Given the description of an element on the screen output the (x, y) to click on. 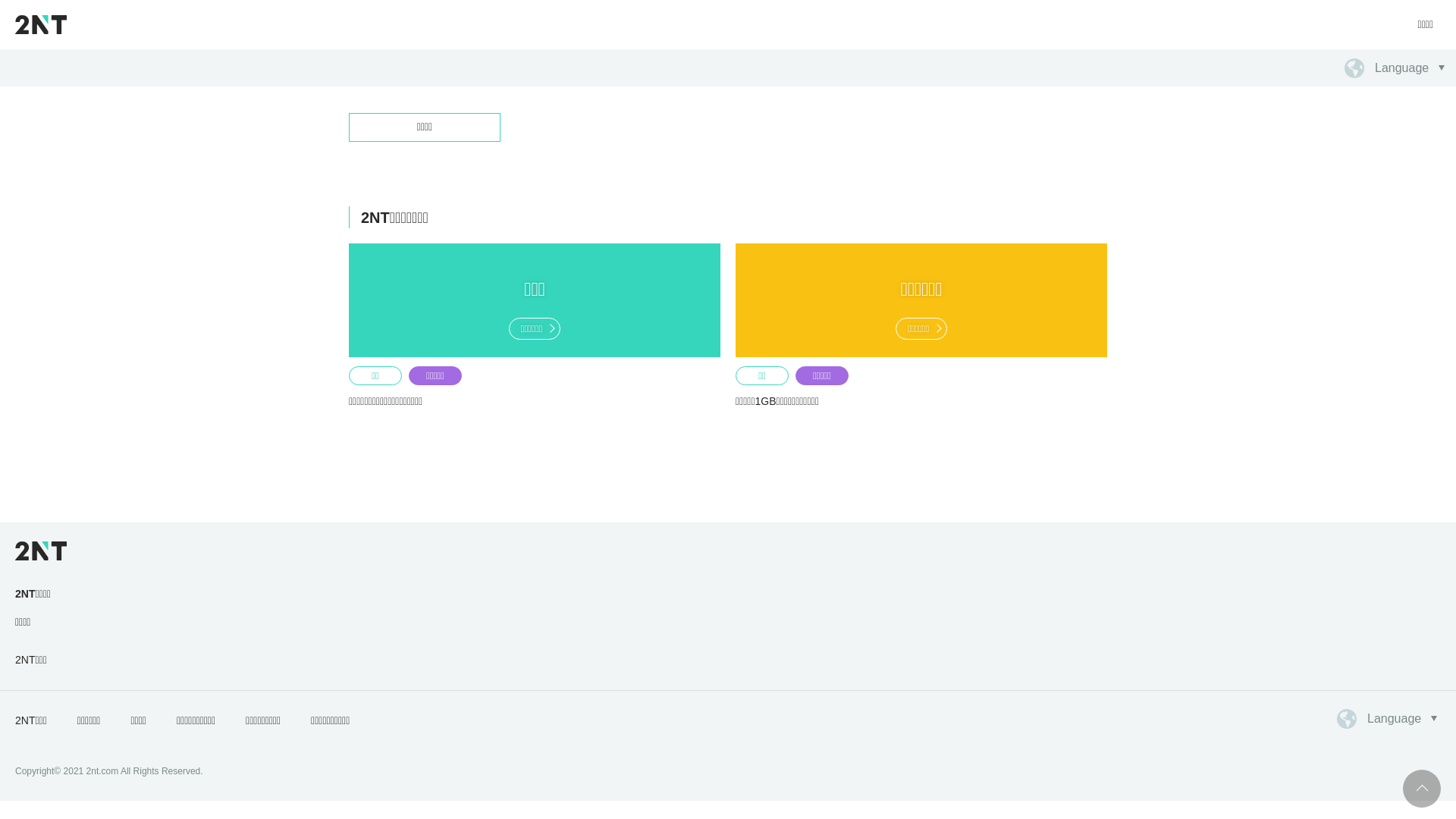
2NT Element type: hover (40, 24)
